Given the description of an element on the screen output the (x, y) to click on. 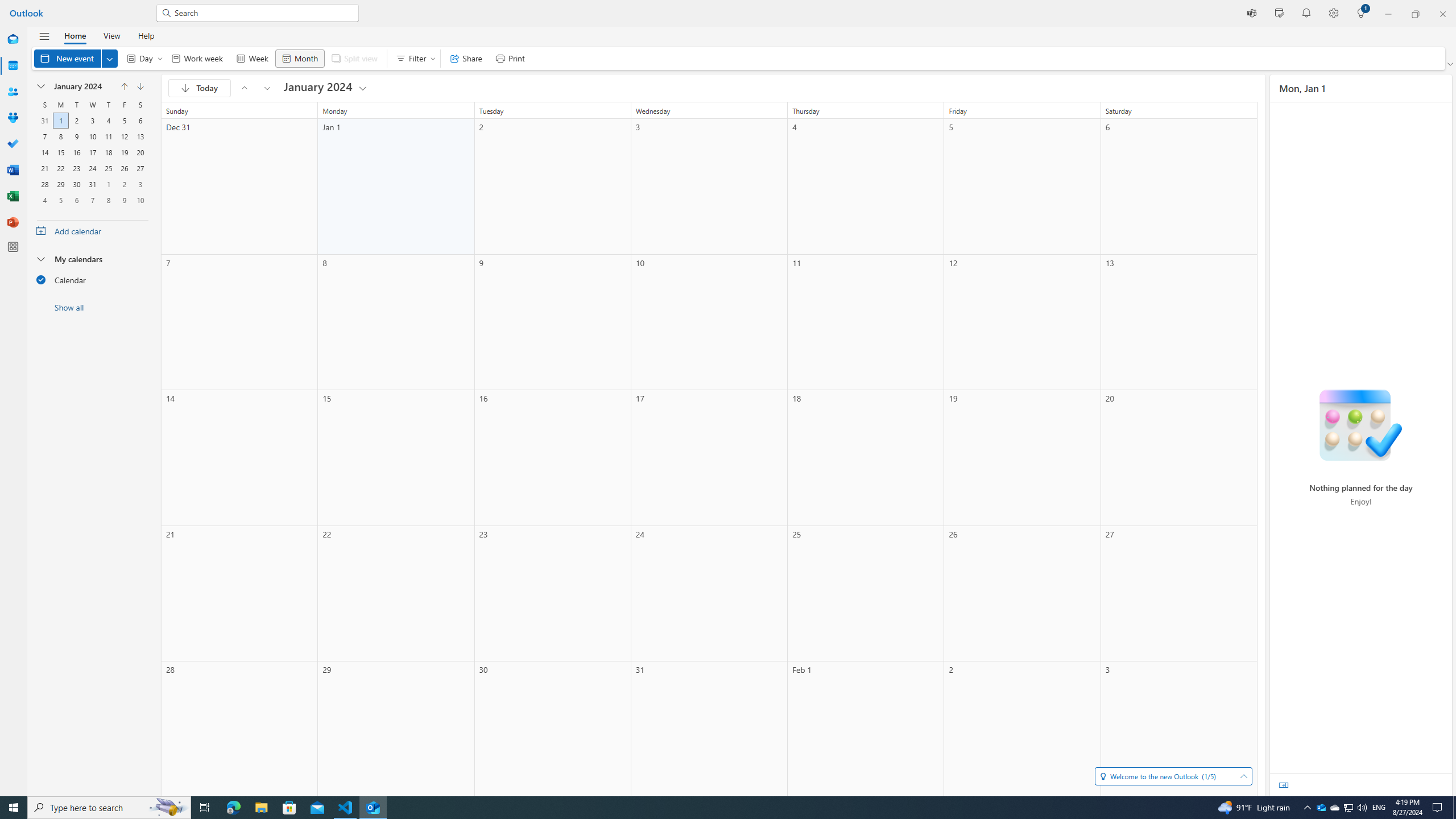
Filter (413, 58)
Word (12, 169)
6, February, 2024 (76, 200)
14, January, 2024 (44, 152)
Friday (124, 104)
26, January, 2024 (124, 168)
Home (74, 35)
21, January, 2024 (44, 168)
7, February, 2024 (92, 200)
Work week (197, 58)
1, February, 2024 (108, 184)
29, January, 2024 (60, 184)
PowerPoint (12, 222)
